Given the description of an element on the screen output the (x, y) to click on. 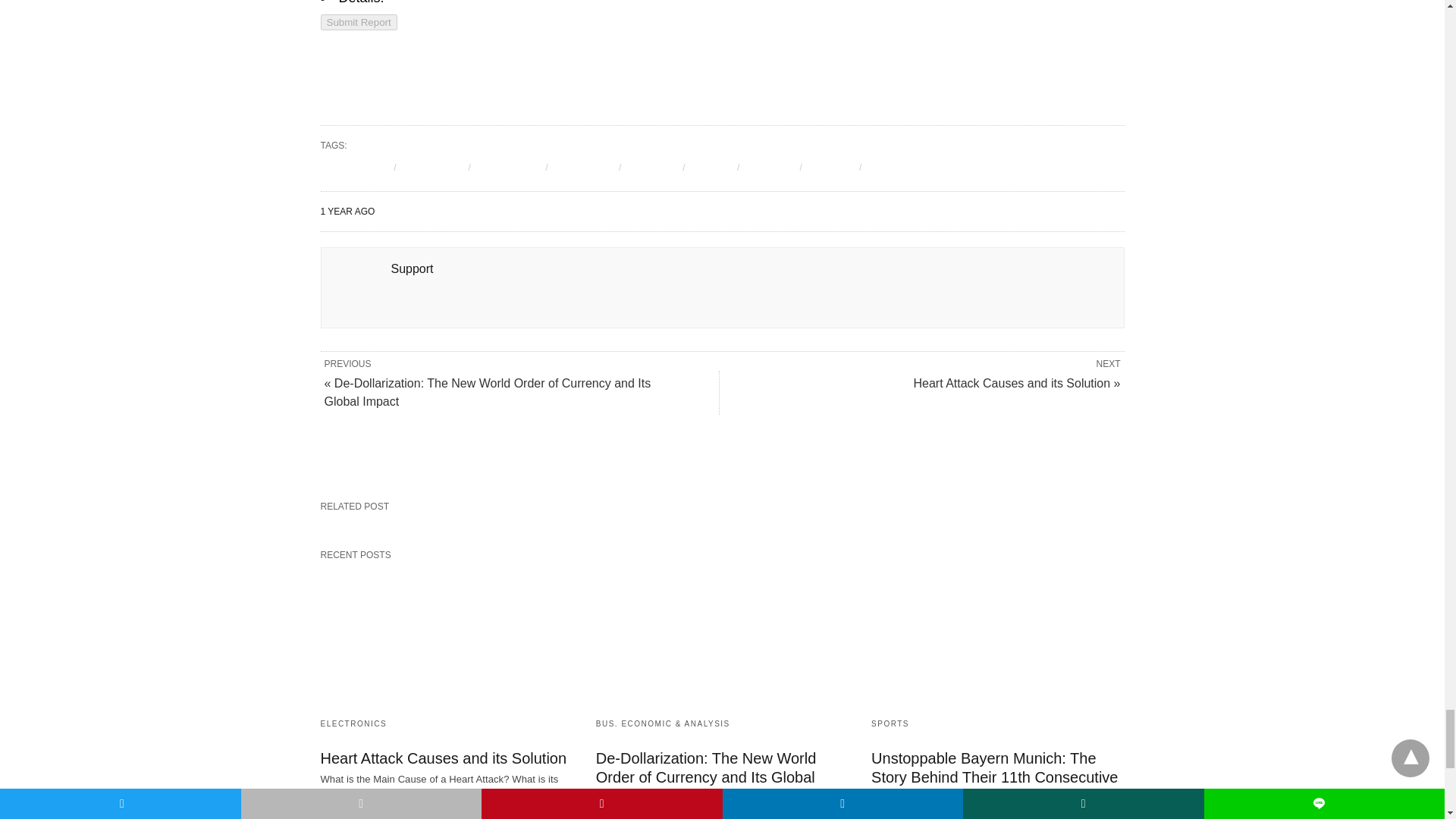
finance (711, 166)
POLICY (830, 166)
politics (886, 166)
economy (651, 166)
businesses (432, 166)
businesses (432, 166)
finance (711, 166)
economy (651, 166)
politics (886, 166)
Leave a Comment (721, 475)
Submit Report (358, 22)
investing (769, 166)
Leave a Comment (721, 475)
investing (769, 166)
Economics (583, 166)
